Given the description of an element on the screen output the (x, y) to click on. 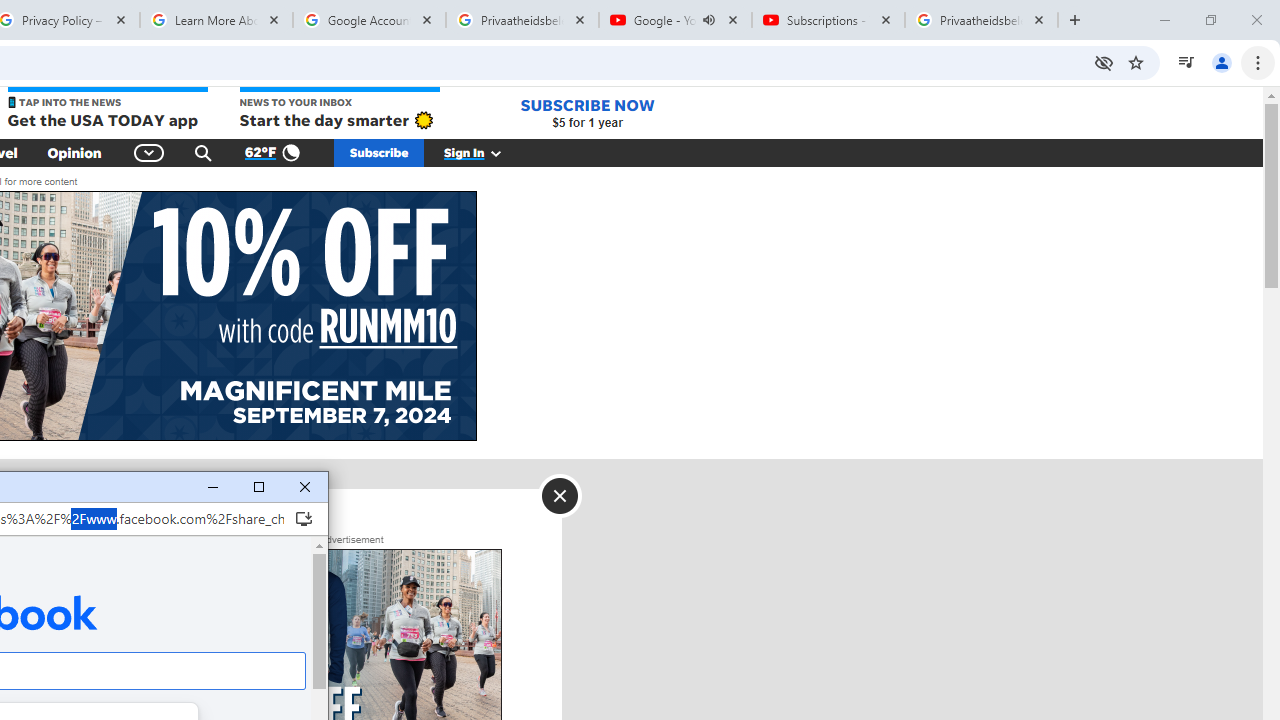
Global Navigation (149, 152)
Subscribe (379, 152)
Search (203, 152)
Mute tab (708, 20)
Control your music, videos, and more (1185, 62)
Install Facebook (303, 518)
Maximize (258, 487)
Subscriptions - YouTube (827, 20)
